Given the description of an element on the screen output the (x, y) to click on. 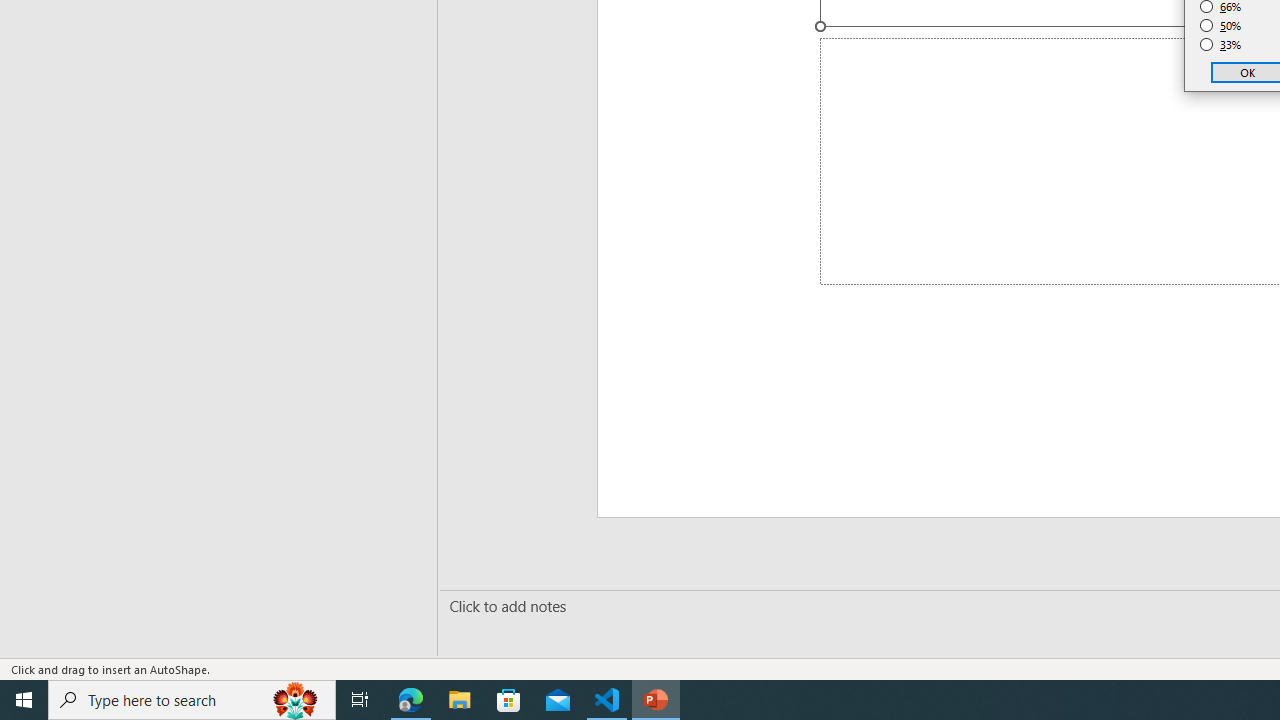
33% (1221, 44)
Microsoft Edge - 1 running window (411, 699)
50% (1221, 25)
